Given the description of an element on the screen output the (x, y) to click on. 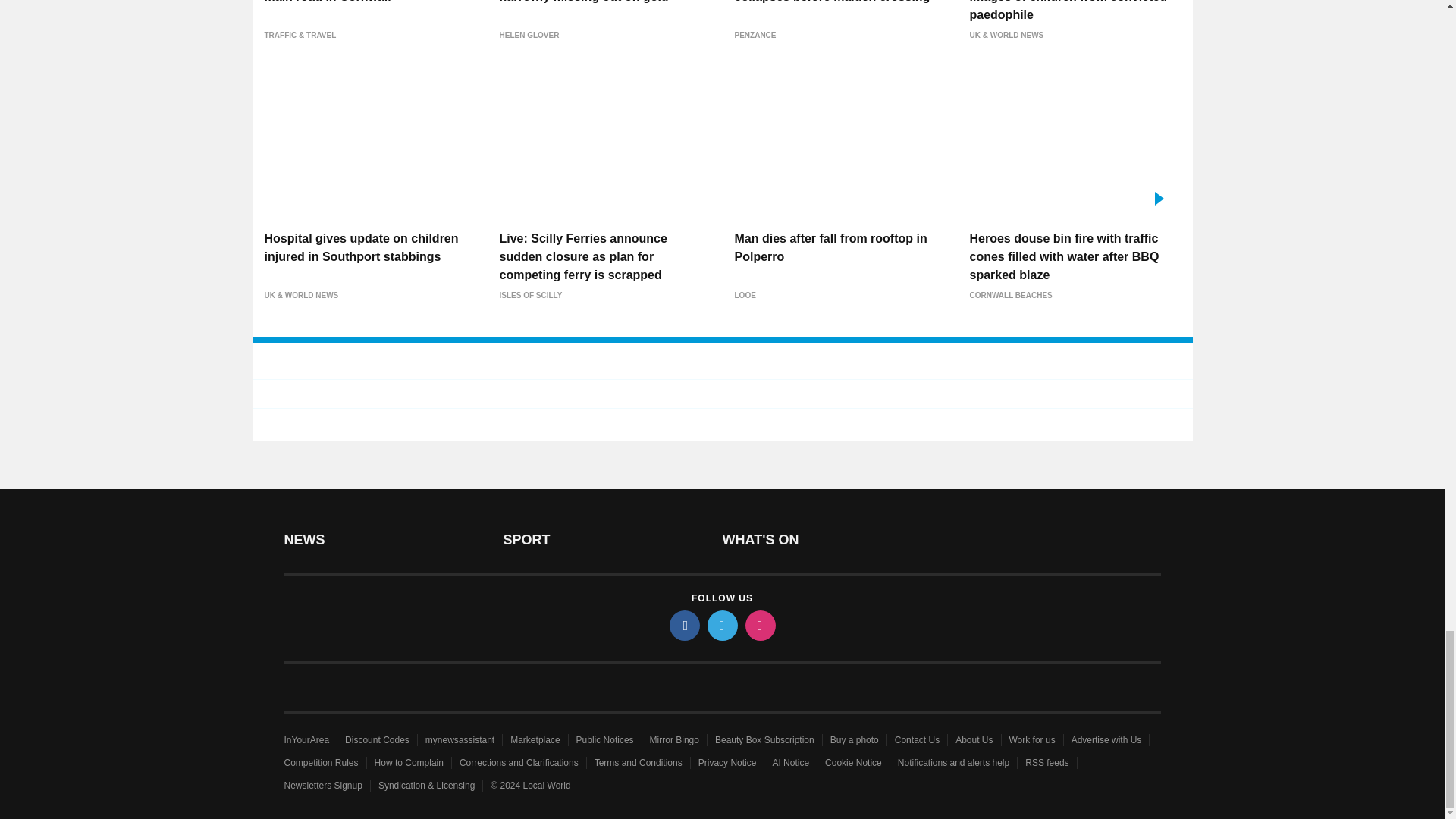
facebook (683, 625)
instagram (759, 625)
twitter (721, 625)
